Given the description of an element on the screen output the (x, y) to click on. 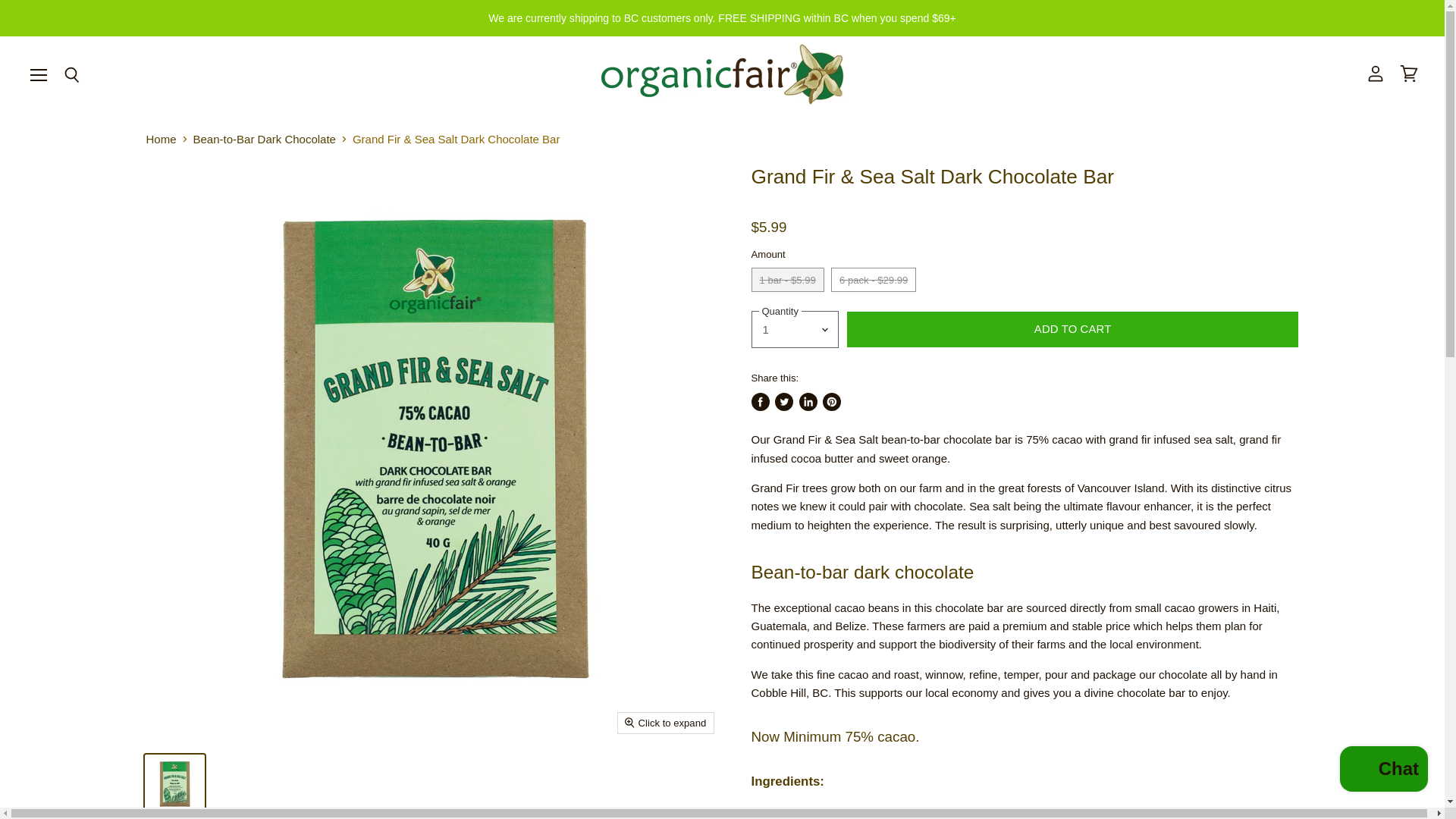
Search (71, 75)
Shopify online store chat (1383, 770)
Menu (39, 73)
